Given the description of an element on the screen output the (x, y) to click on. 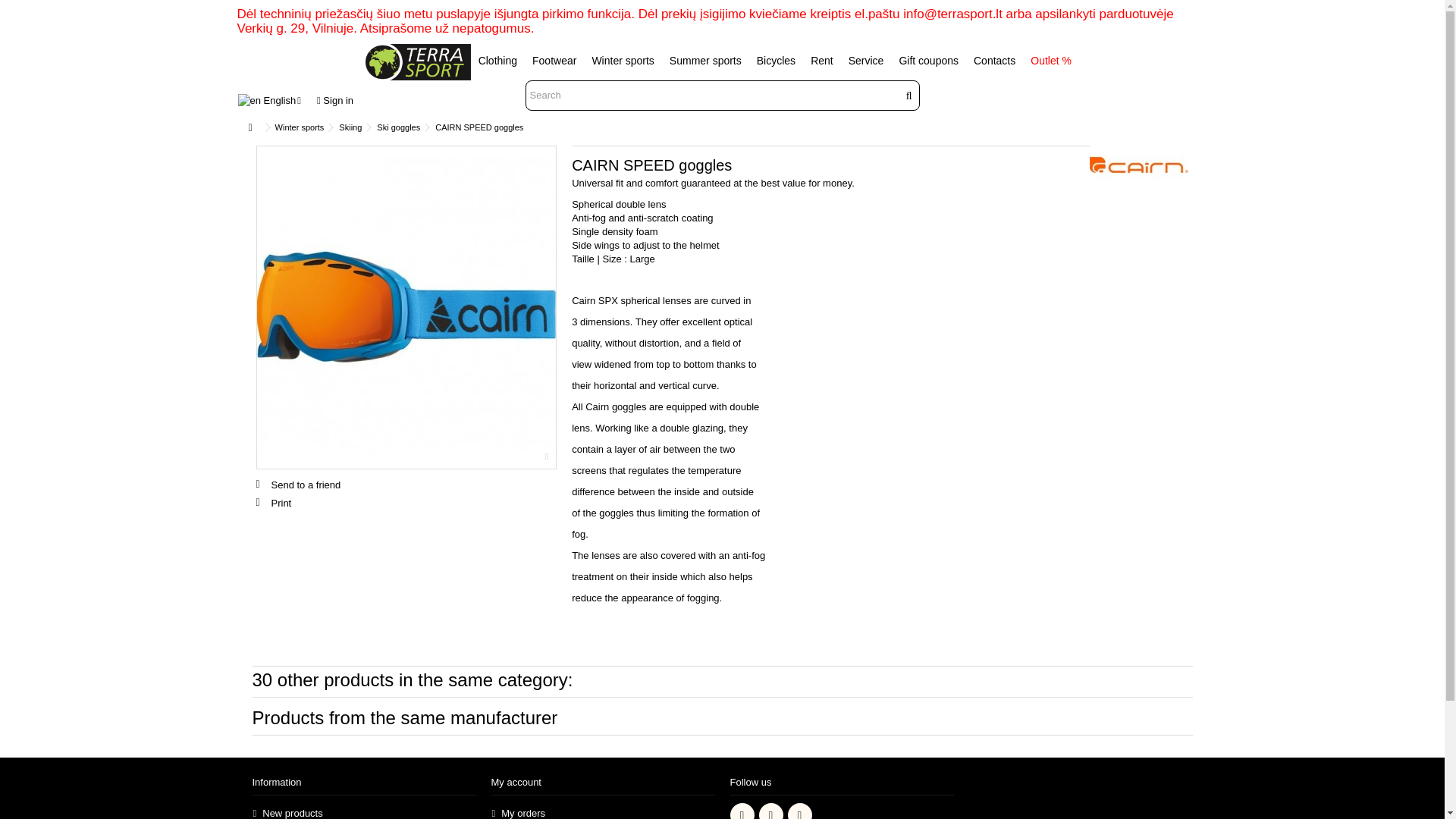
Login to your customer account (335, 100)
Winter sports (299, 126)
Skiing (350, 126)
Ski goggles (398, 126)
